Given the description of an element on the screen output the (x, y) to click on. 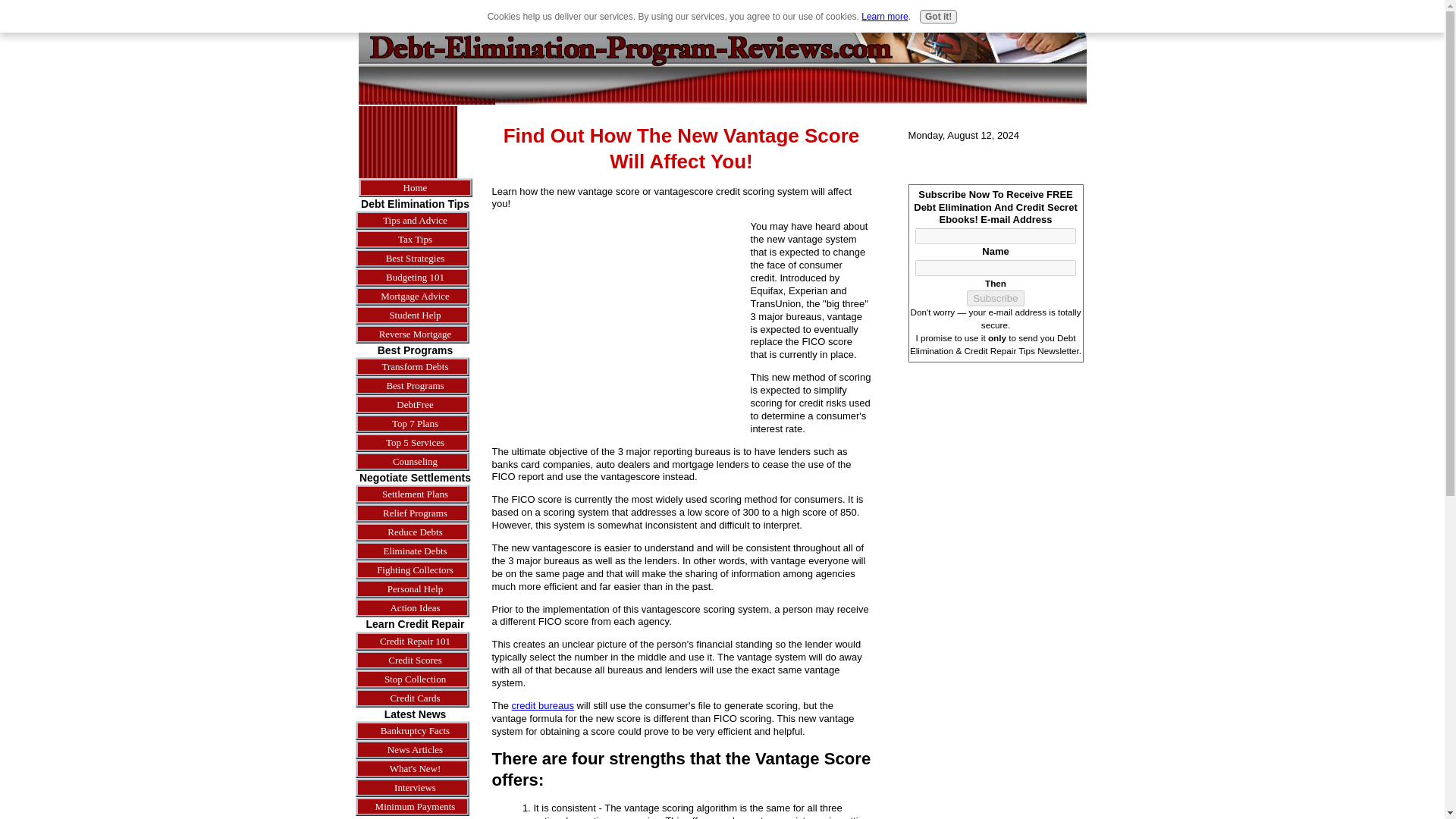
Mortgage Advice (414, 295)
Minimum Payments (414, 805)
Credit Scores (414, 659)
Action Ideas (414, 607)
Advertisement (406, 141)
Reverse Mortgage (414, 333)
Counseling (414, 461)
Reduce Debts (414, 531)
Transform Debts (414, 366)
Fighting Collectors (414, 569)
